Given the description of an element on the screen output the (x, y) to click on. 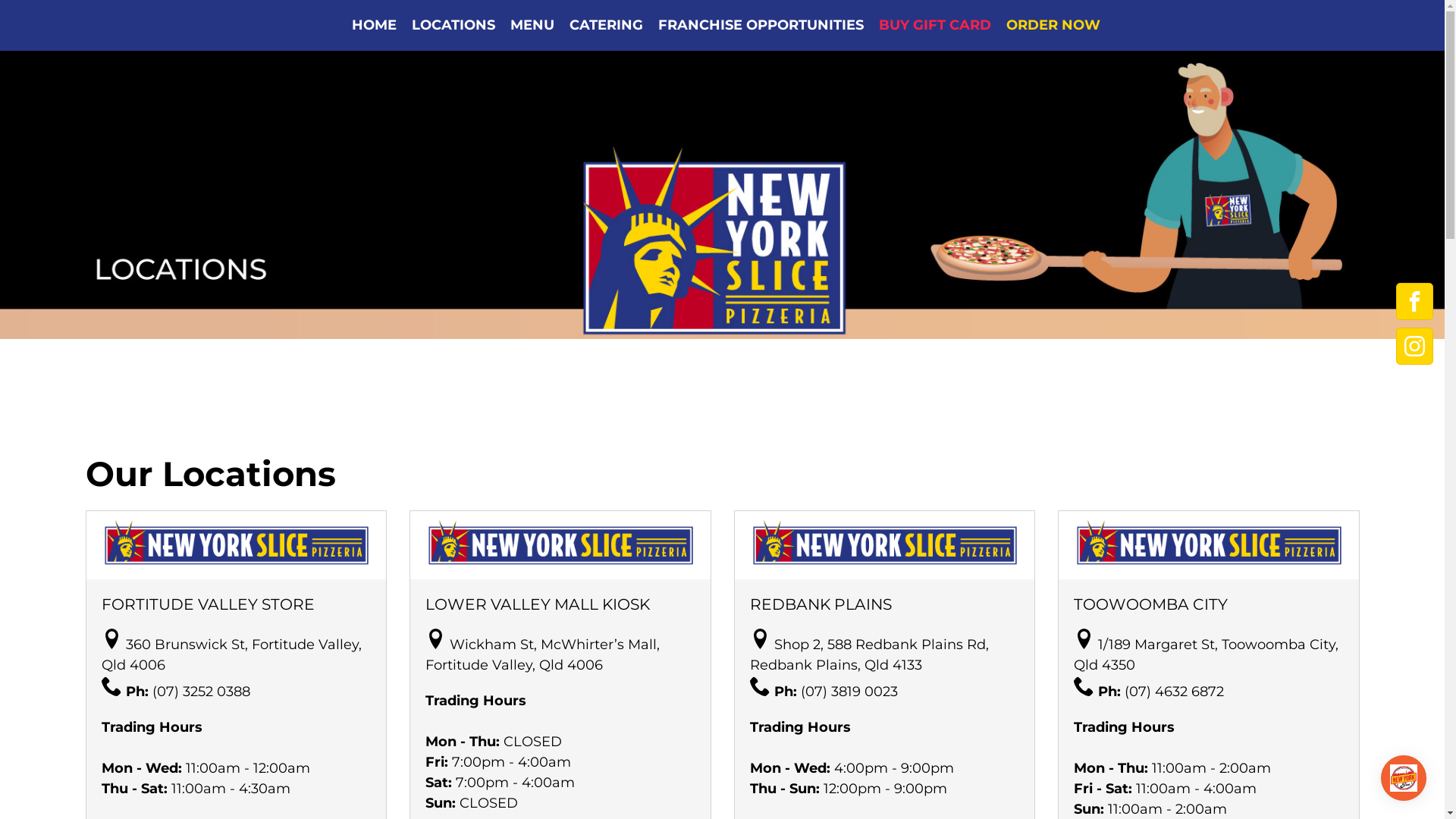
HOME Element type: text (374, 25)
(07) 4632 6872 Element type: text (1173, 691)
BUY GIFT CARD Element type: text (934, 25)
LOCATIONS Element type: text (453, 25)
(07) 3252 0388 Element type: text (200, 691)
CATERING Element type: text (605, 25)
(07) 3819 0023 Element type: text (848, 691)
ORDER NOW Element type: text (1049, 25)
MENU Element type: text (531, 25)
FRANCHISE OPPORTUNITIES Element type: text (760, 25)
